Given the description of an element on the screen output the (x, y) to click on. 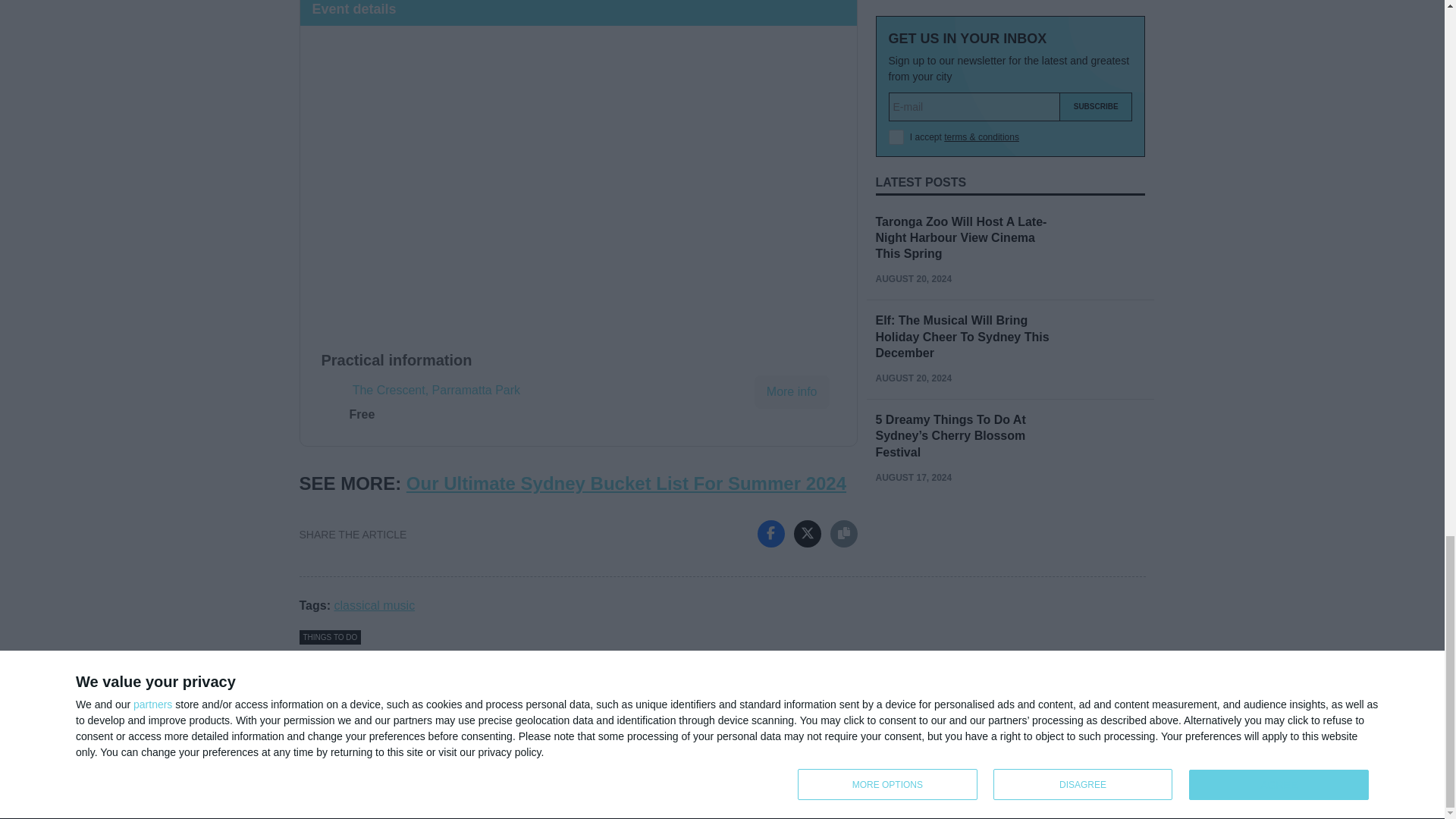
The Crescent, Parramatta Park (435, 390)
Our Ultimate Sydney Bucket List For Summer 2024 (625, 483)
Event details (578, 12)
More info (791, 391)
